Given the description of an element on the screen output the (x, y) to click on. 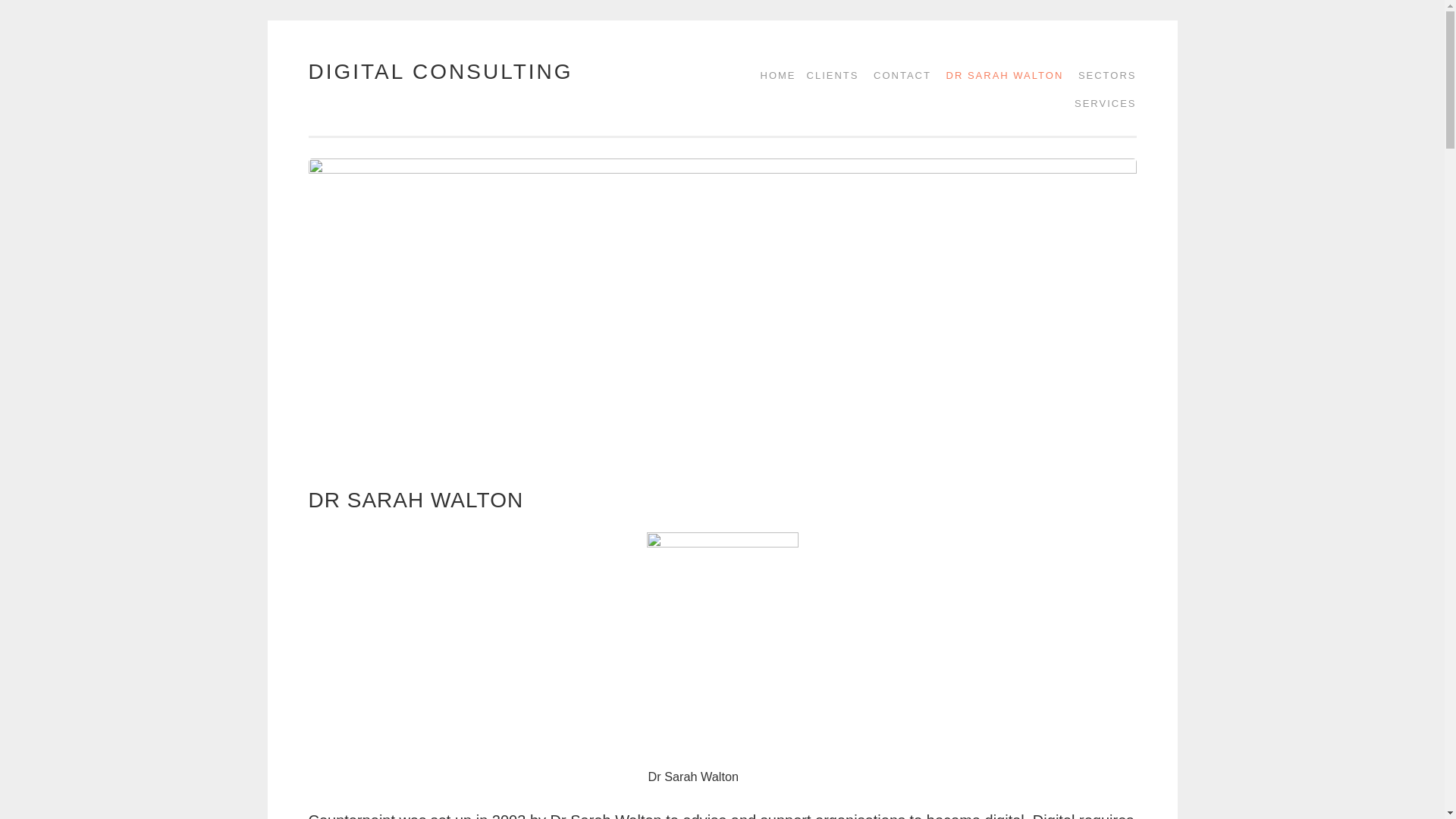
CLIENTS (827, 75)
CONTACT (897, 75)
DR SARAH WALTON (1000, 75)
HOME (772, 75)
DIGITAL CONSULTING (439, 71)
Skip to content (347, 71)
SECTORS (1102, 75)
SERVICES (1100, 103)
